Given the description of an element on the screen output the (x, y) to click on. 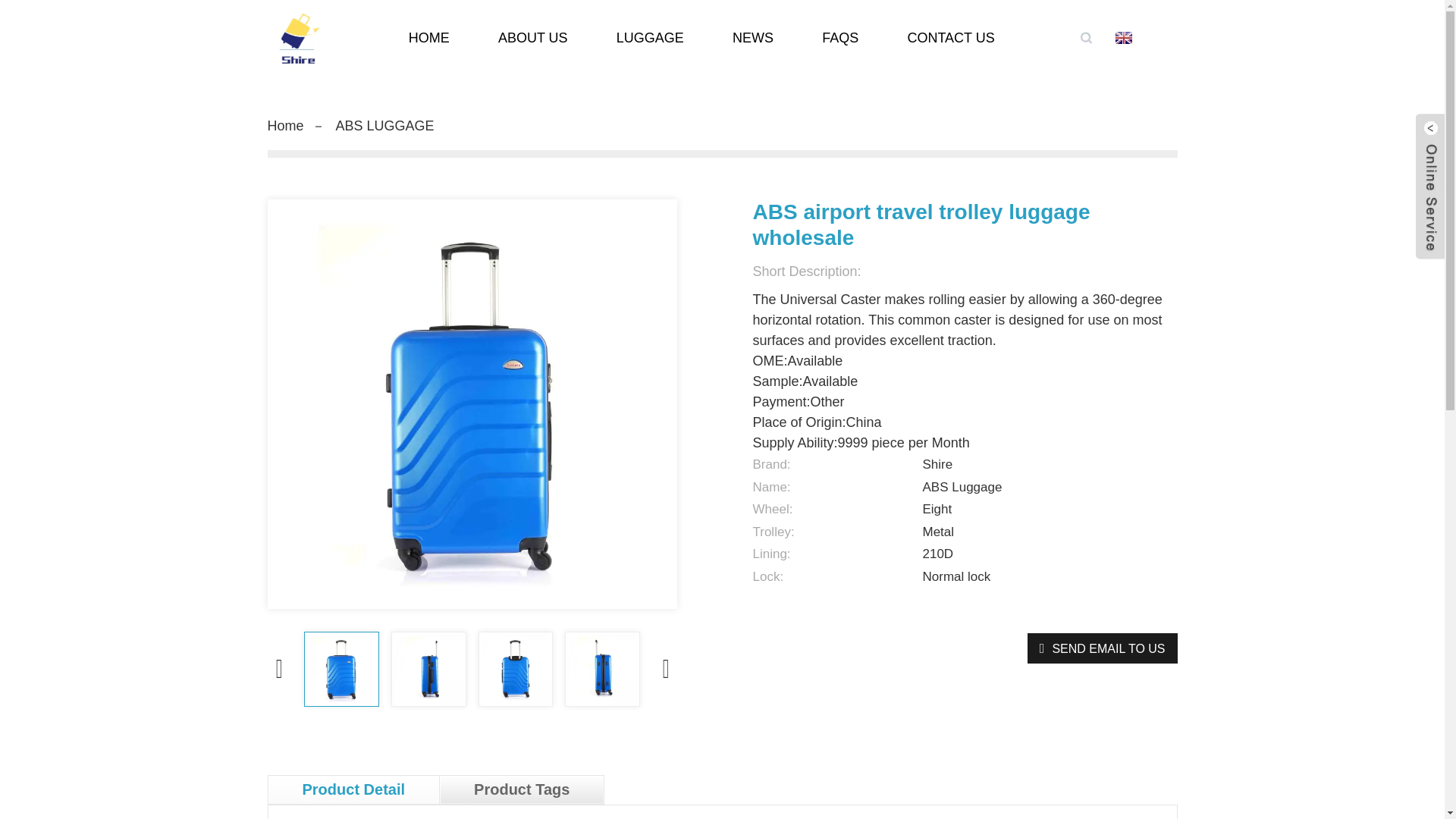
ABS LUGGAGE (384, 125)
English (1144, 37)
FAQS (840, 37)
ABS LUGGAGE (384, 125)
CONTACT US (949, 37)
HOME (428, 37)
NEWS (753, 37)
ABOUT US (533, 37)
LUGGAGE (649, 37)
SEND EMAIL TO US (1102, 648)
Home (284, 125)
